Given the description of an element on the screen output the (x, y) to click on. 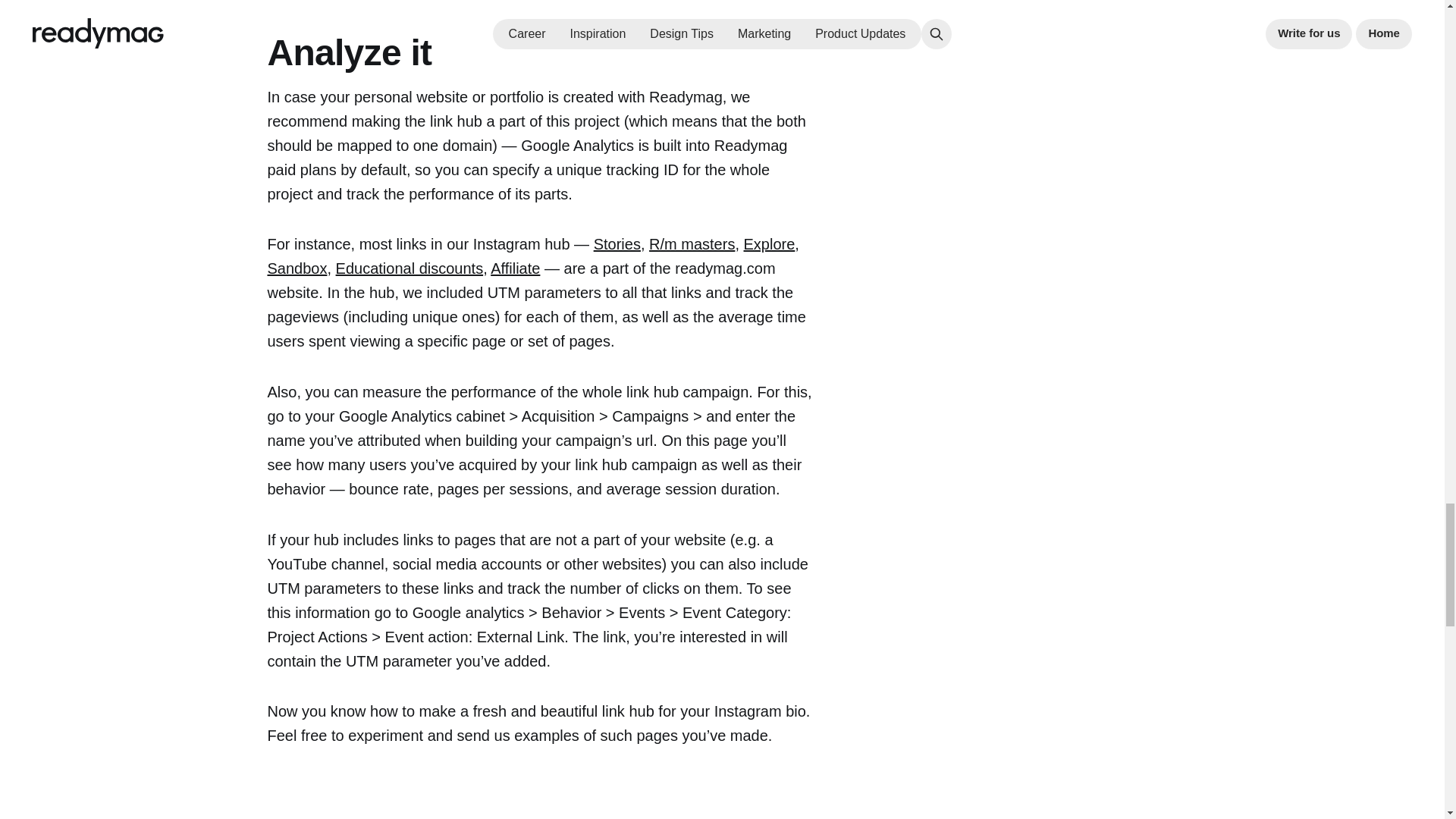
Educational discounts (409, 268)
Affiliate (515, 268)
Explore (769, 243)
Sandbox (296, 268)
Stories (617, 243)
